Given the description of an element on the screen output the (x, y) to click on. 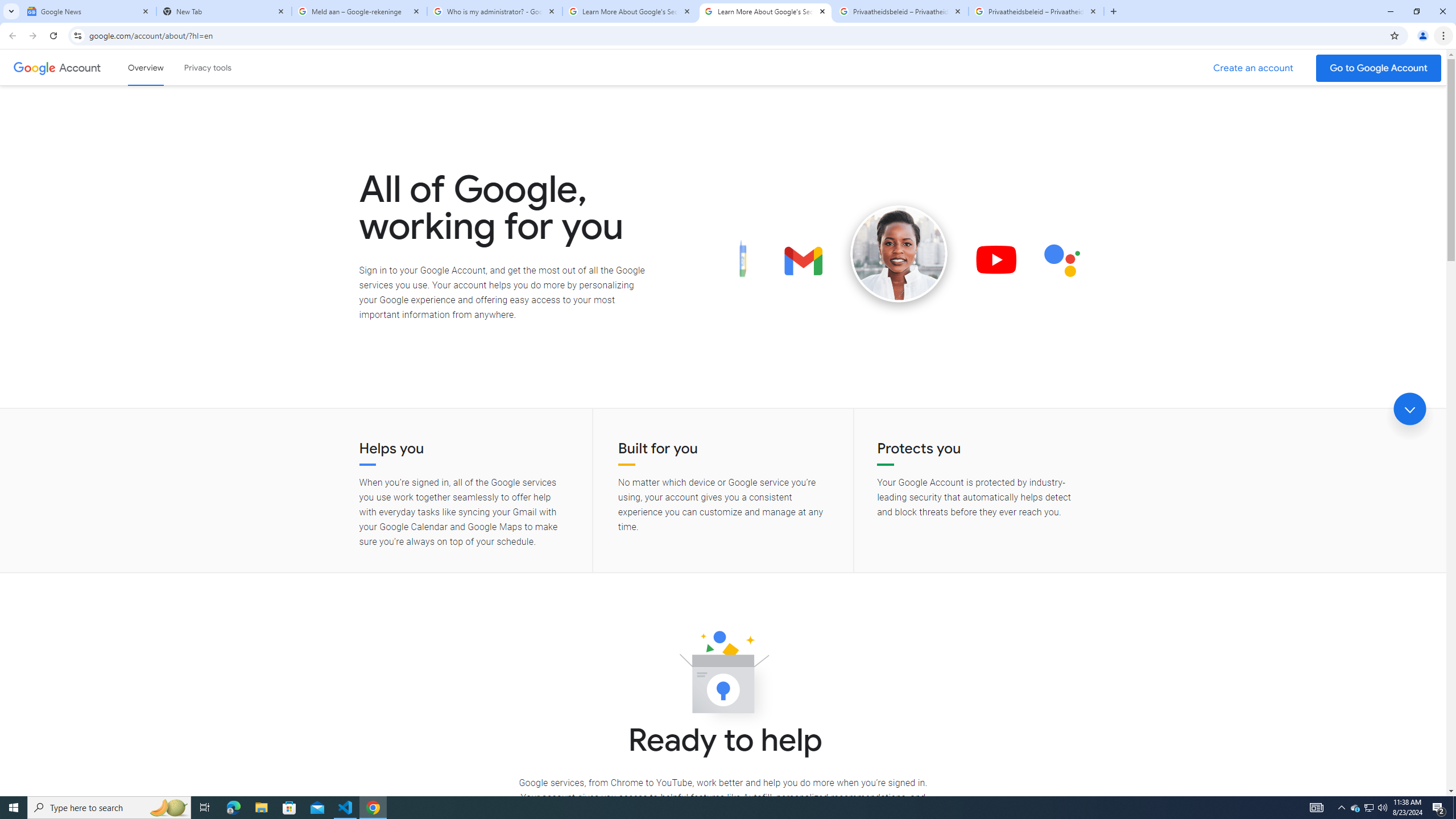
You (1422, 35)
View site information (77, 35)
New Tab (1113, 11)
Jump link (1409, 408)
Minimize (1390, 11)
System (6, 6)
Ready to help (722, 675)
Google Account (80, 67)
Who is my administrator? - Google Account Help (494, 11)
Forward (32, 35)
Address and search bar (735, 35)
Reload (52, 35)
